Given the description of an element on the screen output the (x, y) to click on. 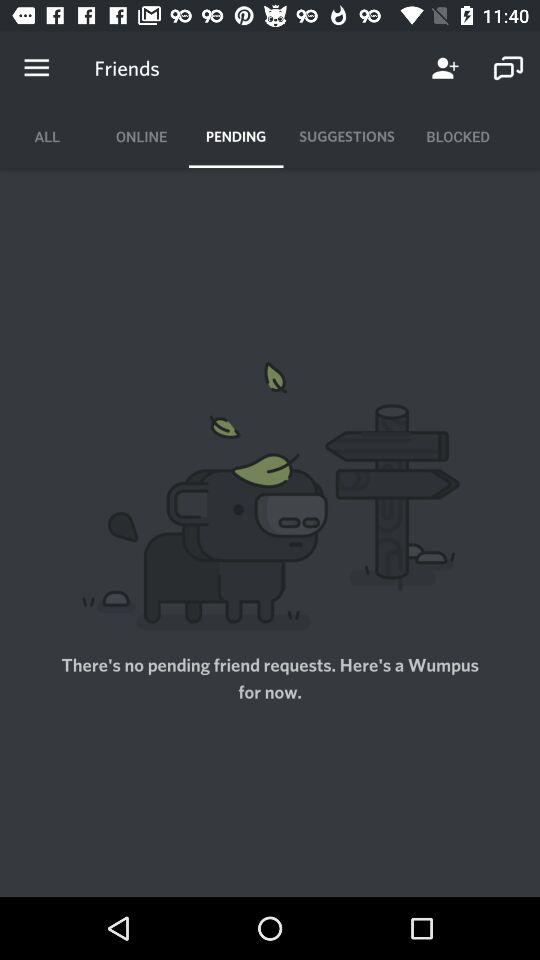
open menu (36, 68)
